Given the description of an element on the screen output the (x, y) to click on. 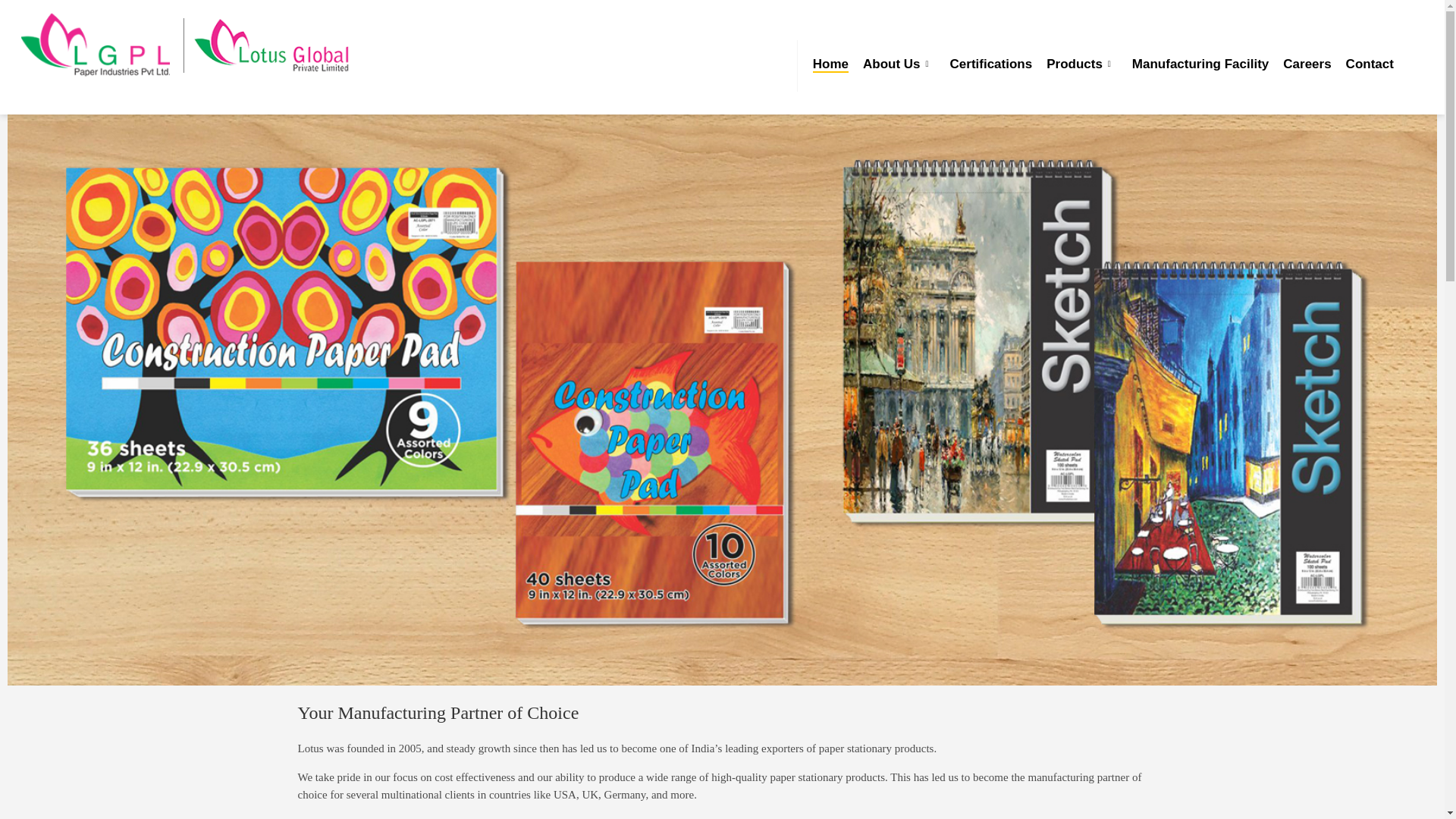
Contact (1369, 63)
Careers (1306, 63)
Certifications (991, 63)
Products (1074, 63)
About Us (891, 63)
Manufacturing Facility (1200, 63)
Home (830, 63)
